Given the description of an element on the screen output the (x, y) to click on. 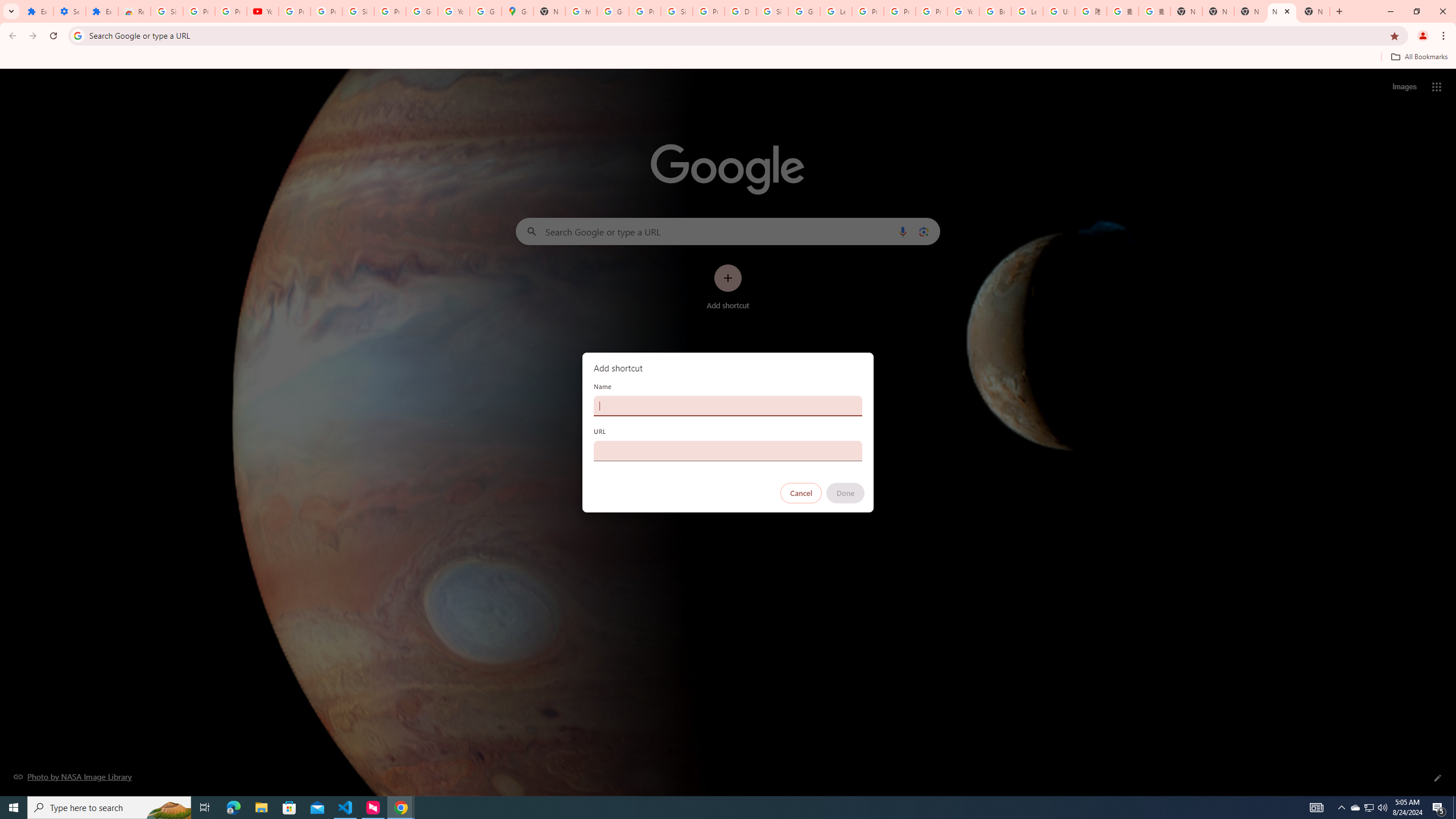
New Tab (1313, 11)
YouTube (453, 11)
Sign in - Google Accounts (166, 11)
Bookmarks (728, 58)
YouTube (262, 11)
